Given the description of an element on the screen output the (x, y) to click on. 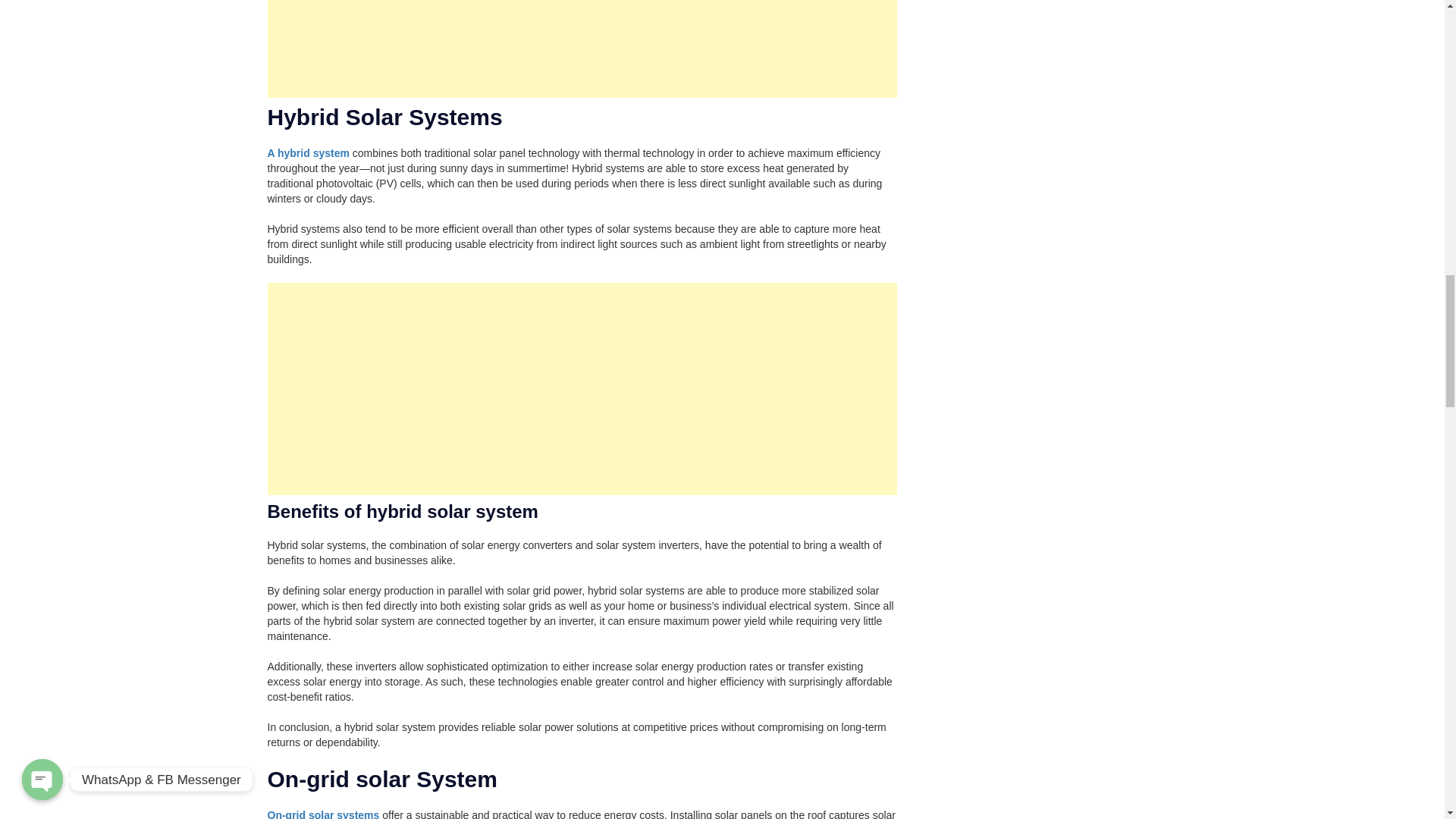
Advertisement (581, 48)
On-grid solar systems (322, 814)
A hybrid system (307, 152)
